Given the description of an element on the screen output the (x, y) to click on. 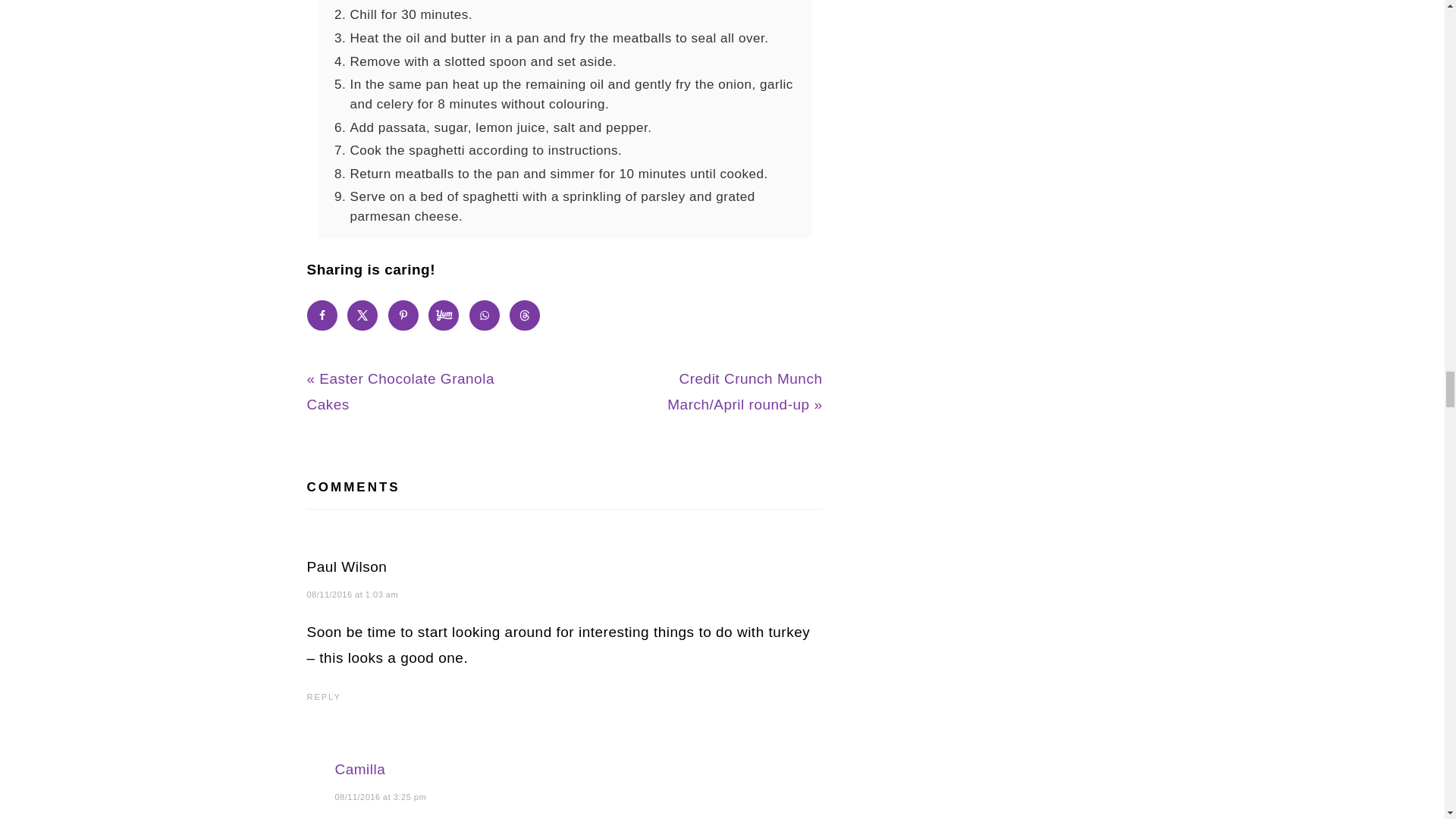
Share on WhatsApp (483, 315)
Camilla (359, 769)
Share on Facebook (320, 315)
Share on Threads (524, 315)
Share on Yummly (443, 315)
REPLY (322, 696)
Share on X (362, 315)
Save to Pinterest (403, 315)
